Given the description of an element on the screen output the (x, y) to click on. 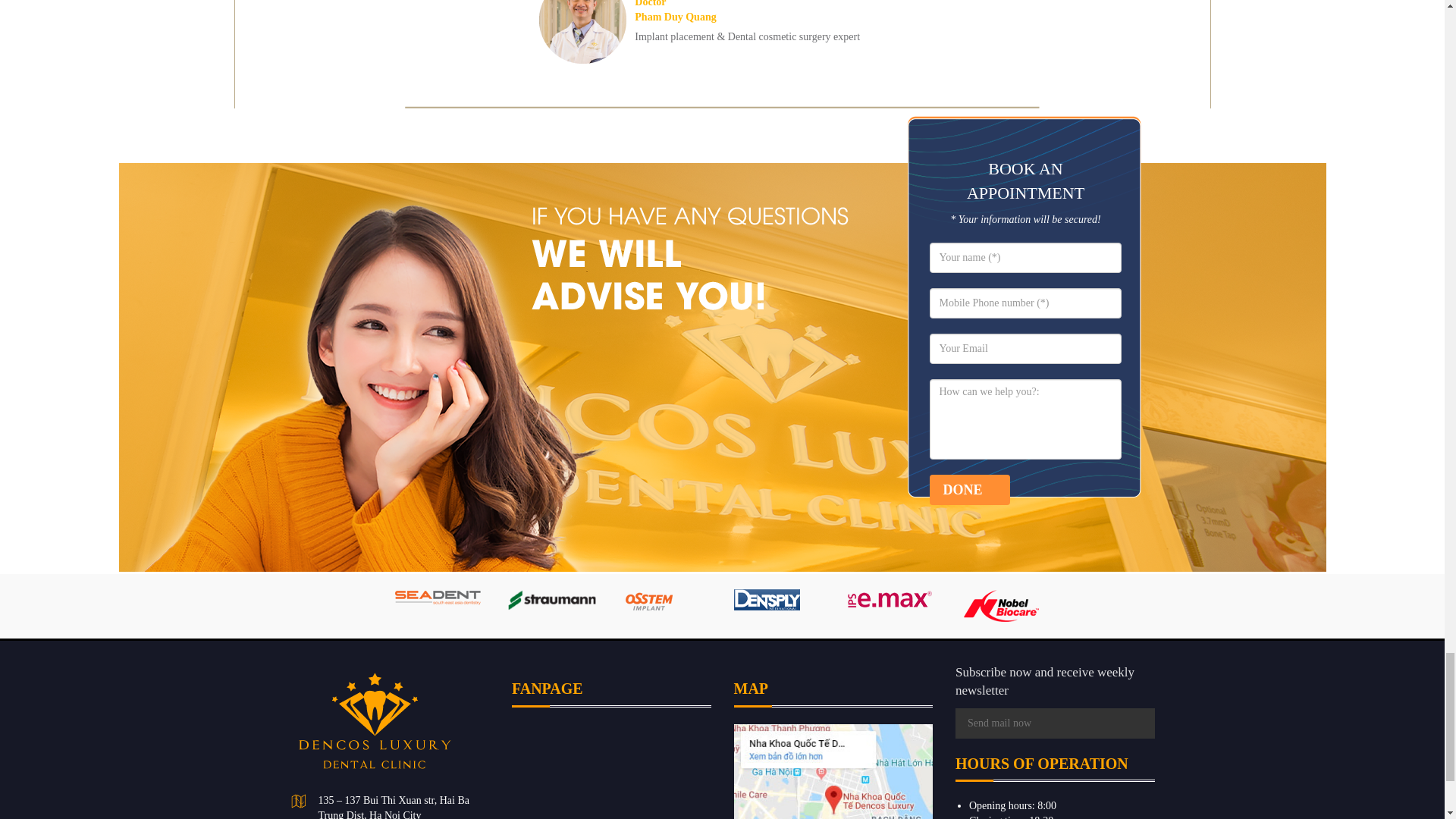
DONE (970, 490)
DONE (970, 490)
